Given the description of an element on the screen output the (x, y) to click on. 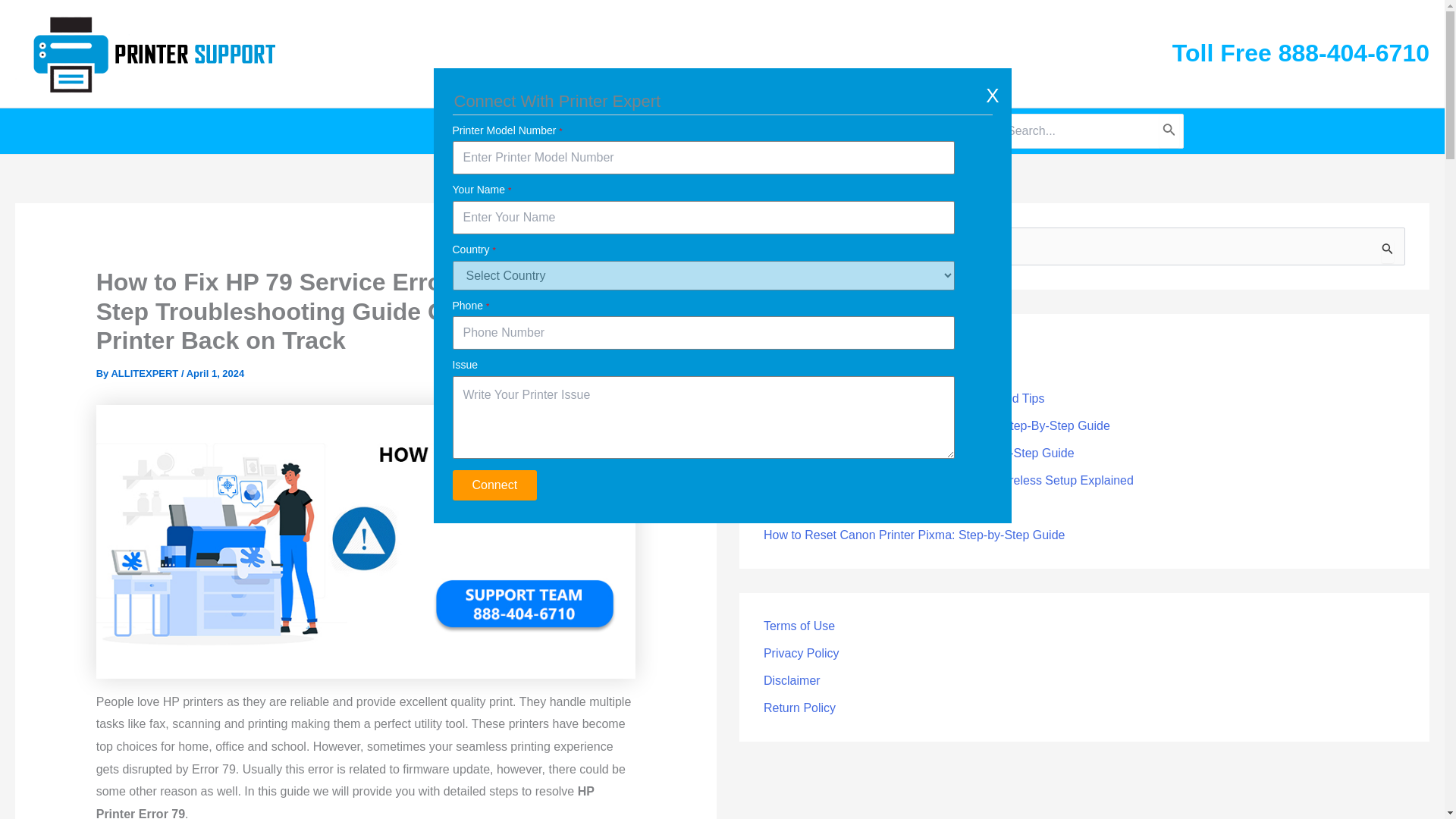
Printer (566, 130)
Home (498, 130)
Wireless Printer Setup (792, 130)
ALLITEXPERT (145, 373)
Printer Help (654, 130)
Contact Us (928, 130)
View all posts by ALLITEXPERT (145, 373)
Connect (494, 485)
